Given the description of an element on the screen output the (x, y) to click on. 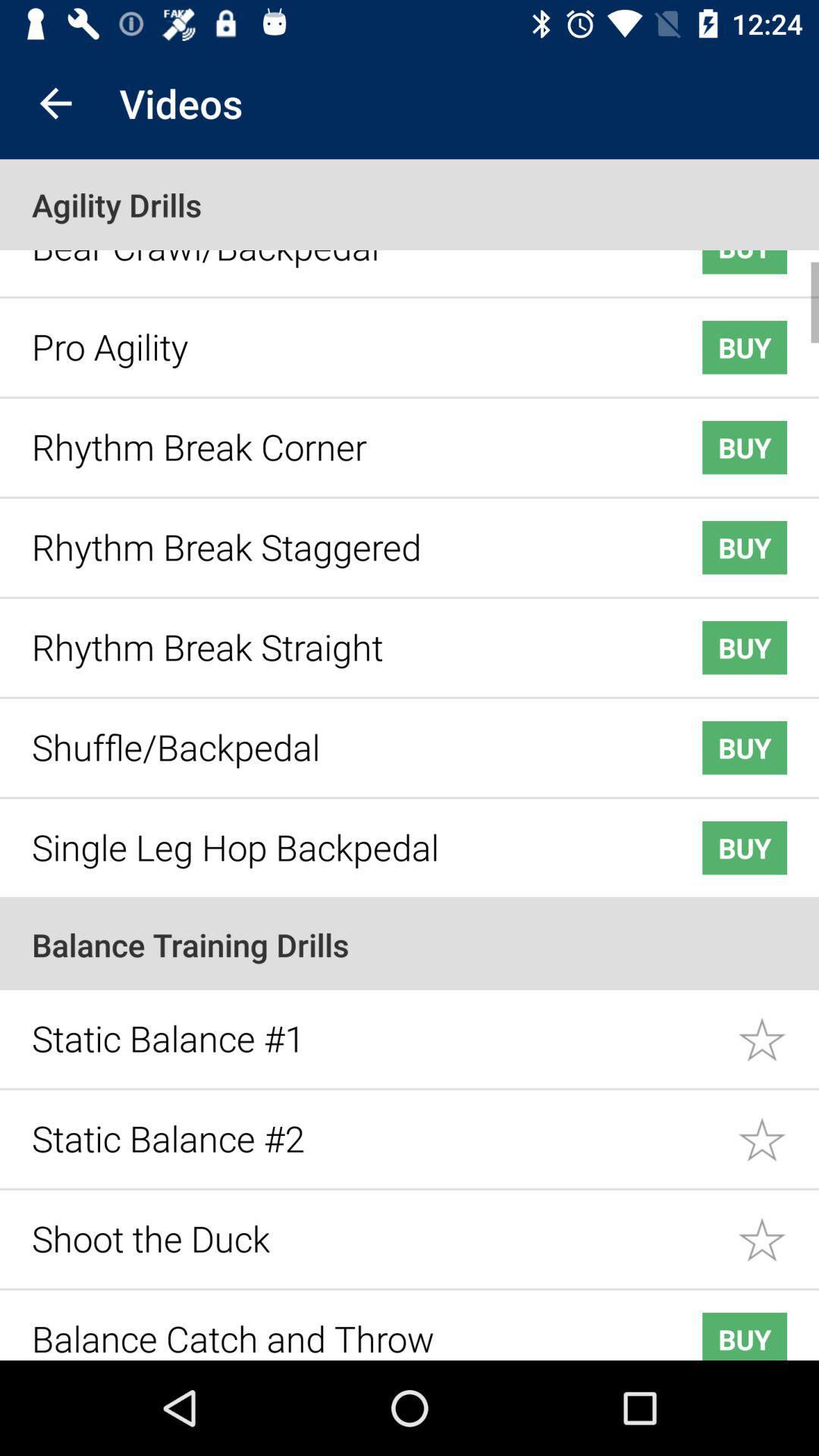
choose item to the left of buy item (342, 836)
